Given the description of an element on the screen output the (x, y) to click on. 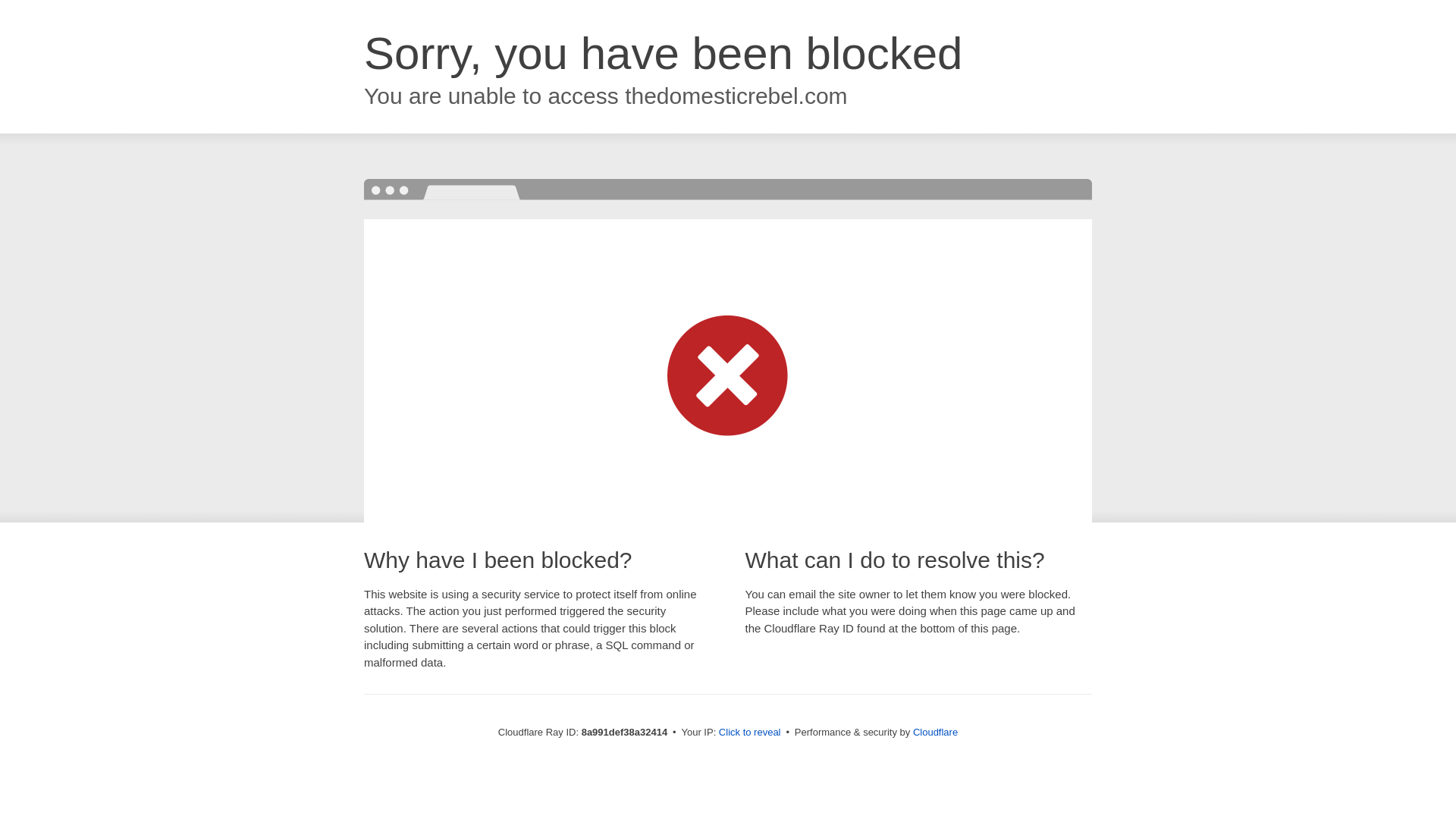
Cloudflare (935, 731)
Click to reveal (749, 732)
